Given the description of an element on the screen output the (x, y) to click on. 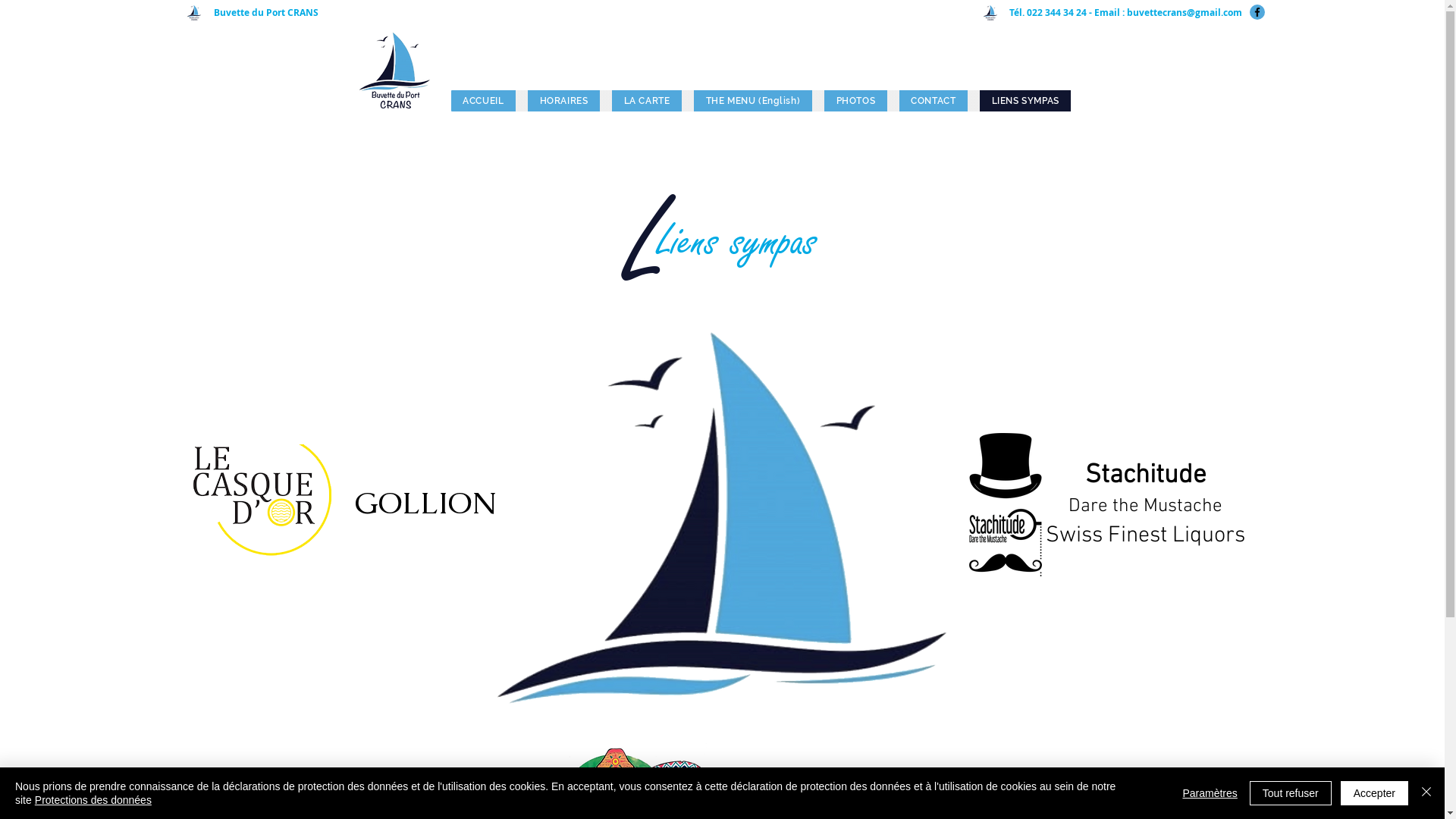
LIENS SYMPAS Element type: text (1024, 100)
022 344 34 24 Element type: text (1056, 12)
Dare the Mustache Element type: text (1145, 503)
Swiss Finest Liquors Element type: text (1145, 532)
LA CARTE Element type: text (646, 100)
THE MENU (English) Element type: text (752, 100)
CONTACT Element type: text (933, 100)
ACCUEIL Element type: text (483, 100)
Tout refuser Element type: text (1290, 793)
Stachitude Element type: text (1145, 471)
LOS CUATES Element type: text (810, 784)
Wix Weather Element type: hover (721, 54)
buvettecrans@gmail.com Element type: text (1184, 12)
Accepter Element type: text (1374, 793)
GOLLION Element type: text (425, 501)
HORAIRES Element type: text (563, 100)
PHOTOS Element type: text (855, 100)
